Given the description of an element on the screen output the (x, y) to click on. 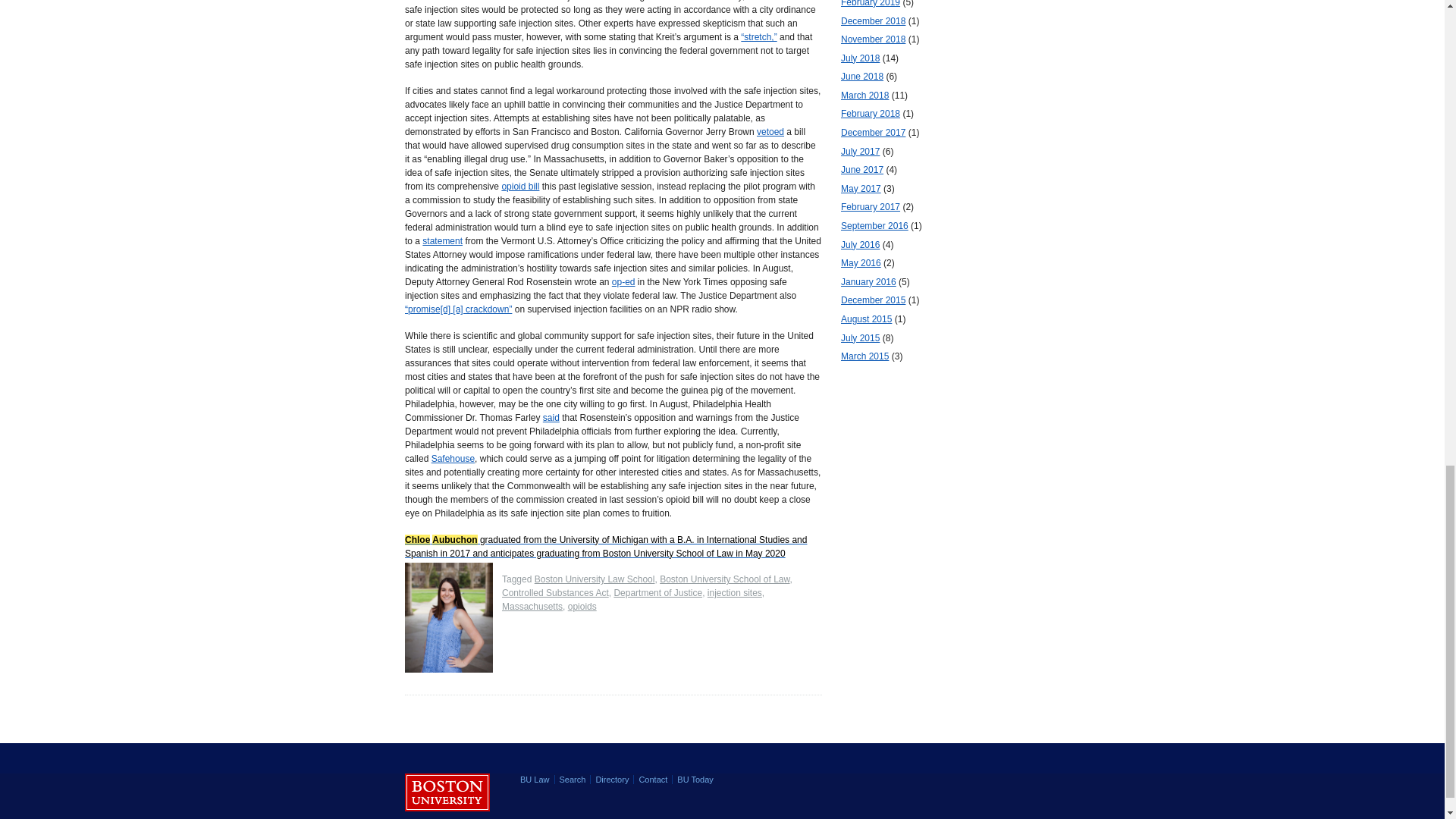
statement (442, 240)
opioid bill (519, 185)
op-ed (622, 281)
vetoed (770, 131)
